Given the description of an element on the screen output the (x, y) to click on. 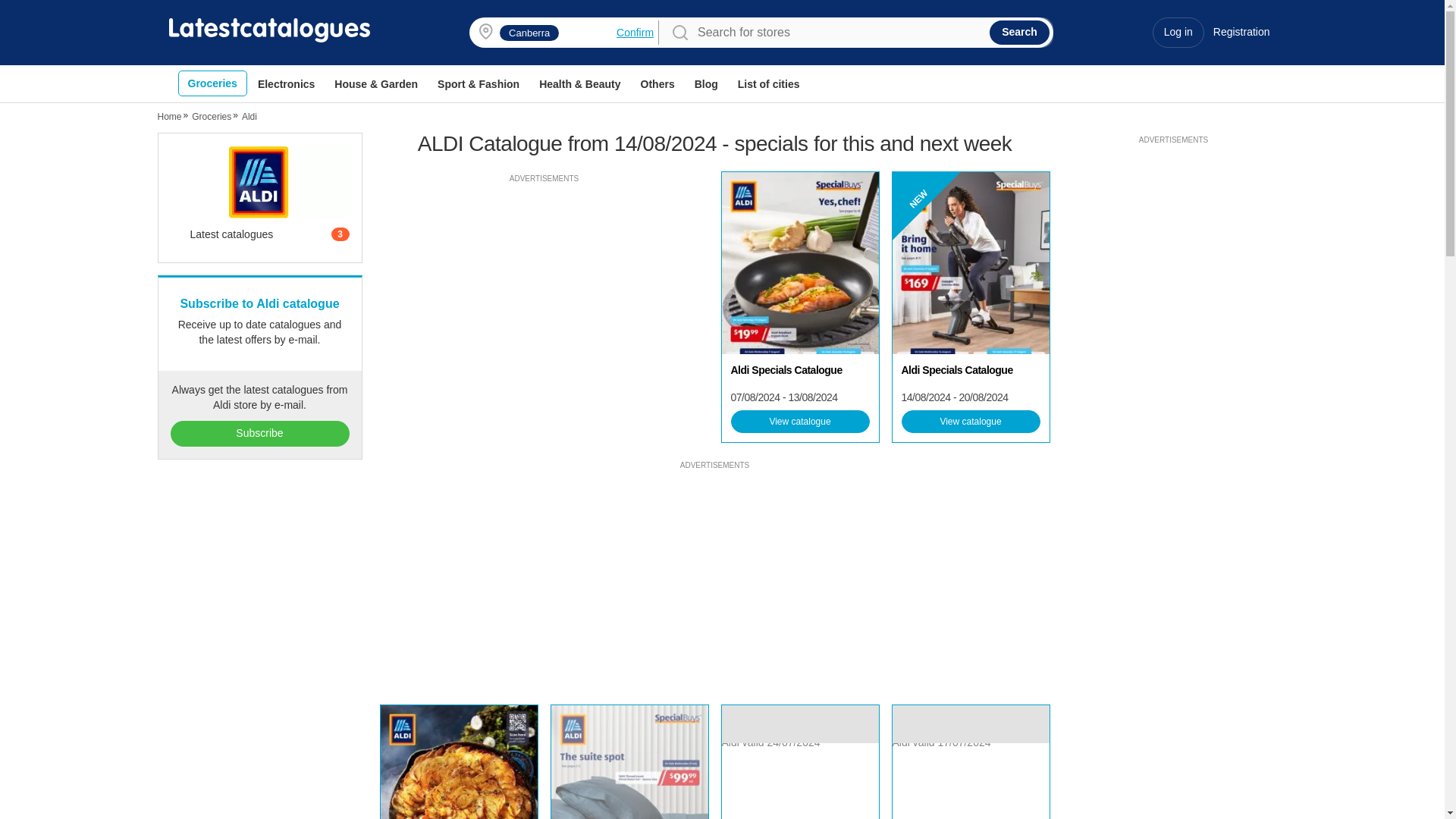
Groceries (211, 83)
Search (1019, 32)
Electronics (285, 84)
Blog (705, 84)
Latestcatalogues.com (268, 30)
Confirm (635, 32)
